Given the description of an element on the screen output the (x, y) to click on. 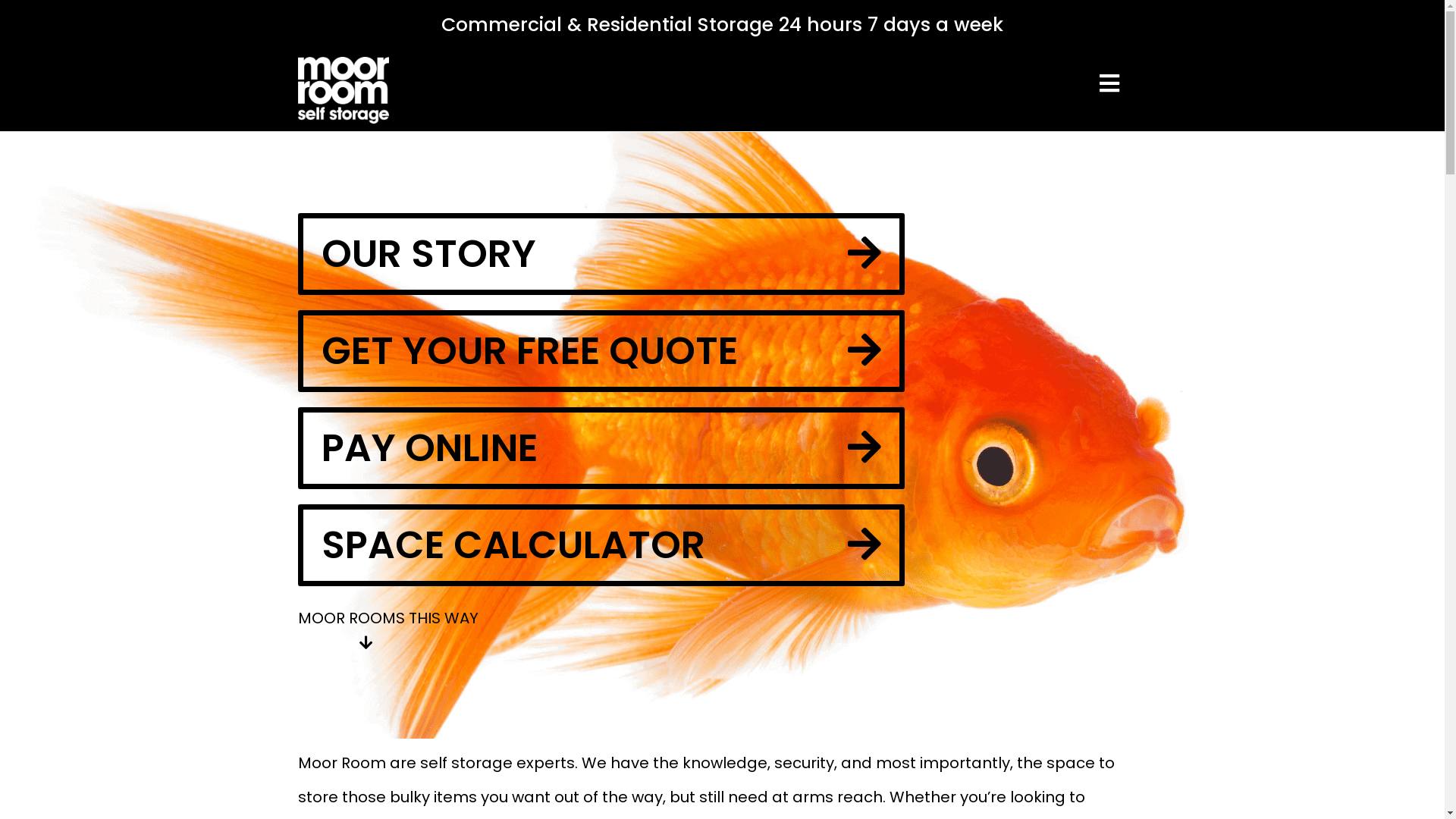
OUR STORY Element type: text (600, 253)
PAY ONLINE Element type: text (600, 448)
GET YOUR FREE QUOTE Element type: text (600, 351)
SPACE CALCULATOR Element type: text (600, 545)
